Given the description of an element on the screen output the (x, y) to click on. 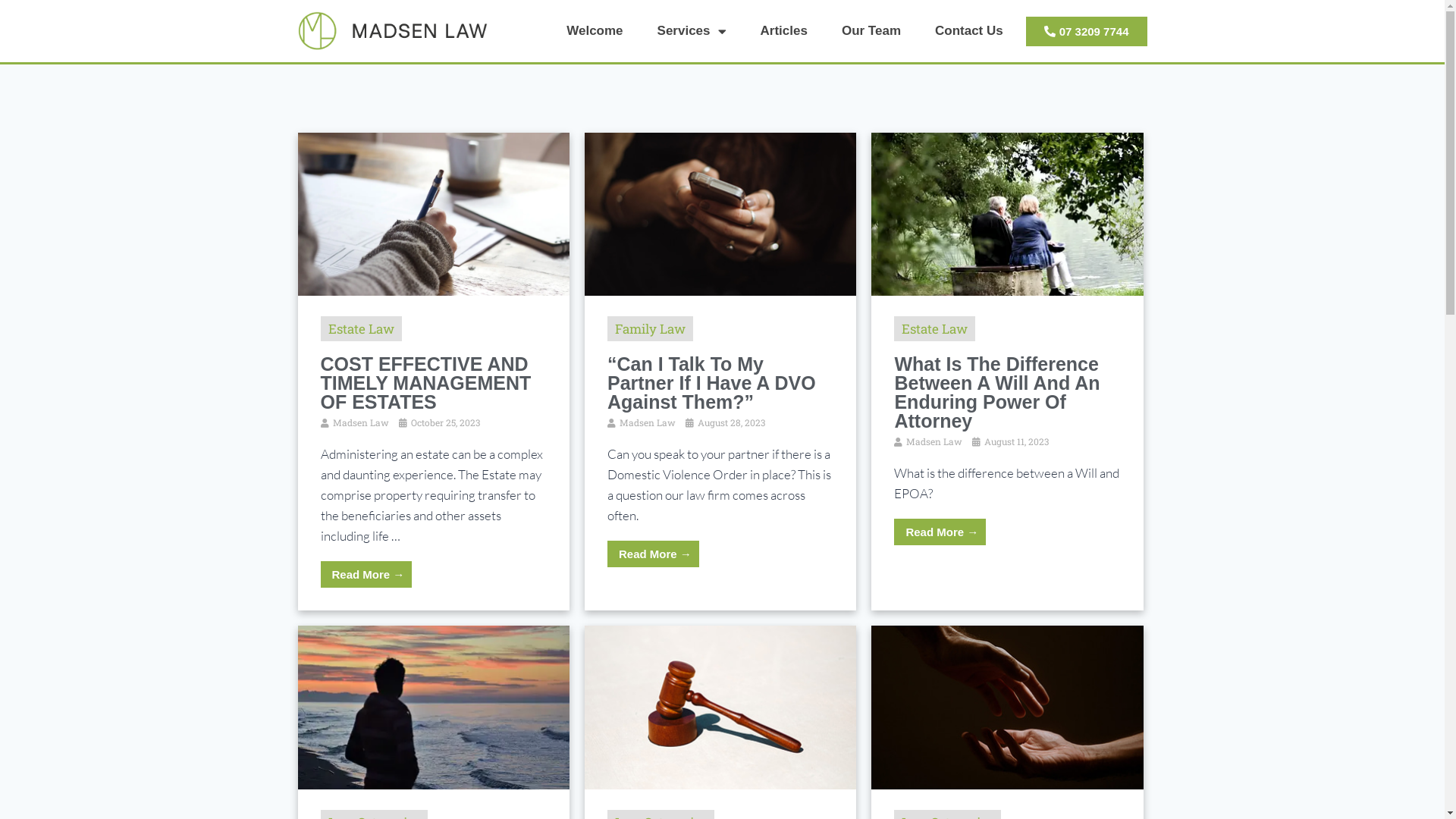
Madsen Law Element type: text (934, 441)
Services Element type: text (691, 30)
Estate Law Element type: text (360, 328)
Welcome Element type: text (594, 30)
07 3209 7744 Element type: text (1086, 31)
Family Law Element type: text (650, 328)
Madsen Law Element type: text (360, 422)
Our Team Element type: text (871, 30)
Madsen Law Element type: text (647, 422)
COST EFFECTIVE AND TIMELY MANAGEMENT OF ESTATES Element type: text (425, 382)
Articles Element type: text (783, 30)
Estate Law Element type: text (934, 328)
Contact Us Element type: text (968, 30)
